Given the description of an element on the screen output the (x, y) to click on. 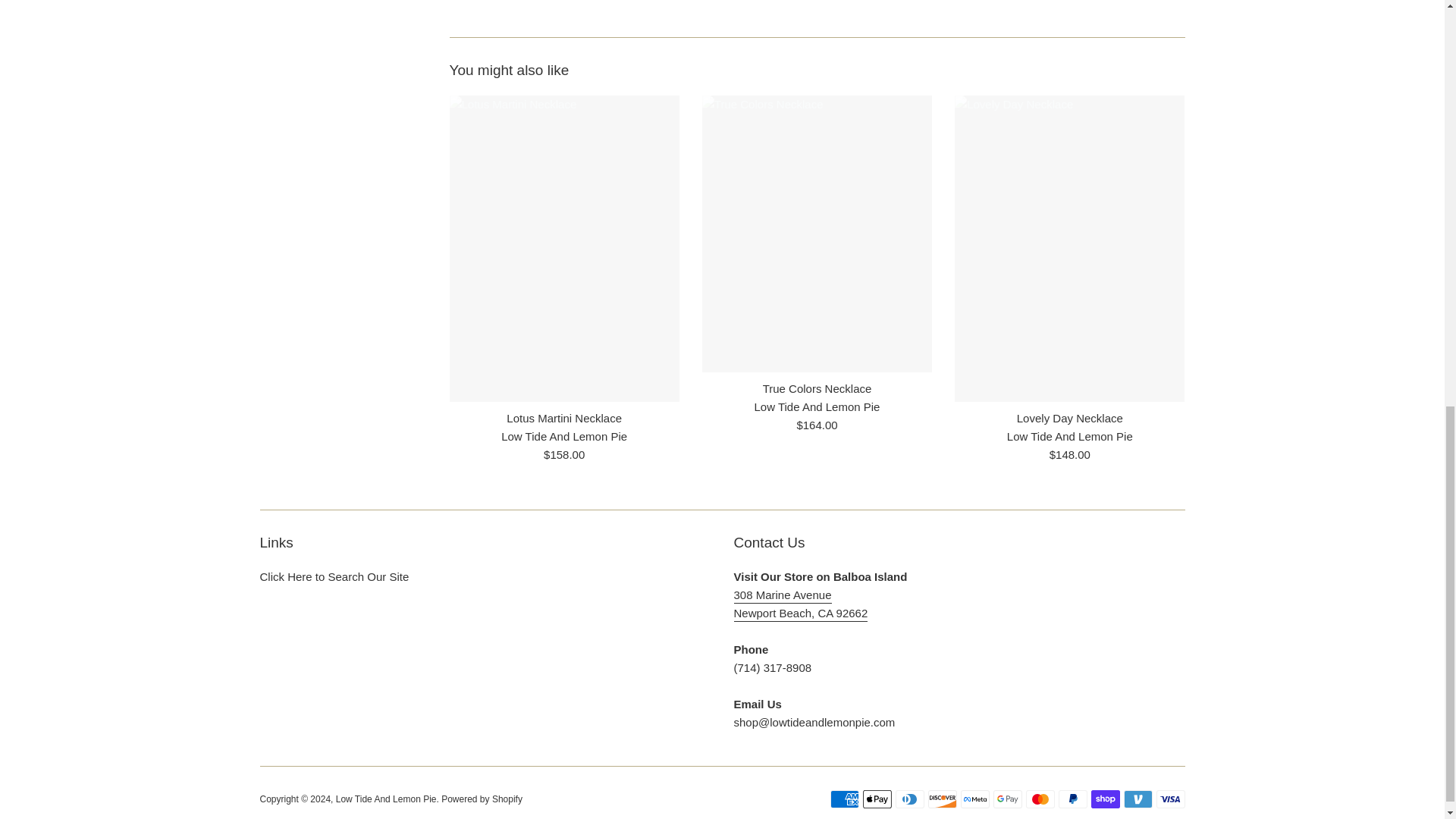
Visa (1170, 799)
Shop Pay (1104, 799)
Apple Pay (877, 799)
Low Tide And Lemon Pie (386, 798)
Powered by Shopify (481, 798)
Mastercard (1039, 799)
Google Pay (1007, 799)
Discover (942, 799)
Lotus Martini Necklace (563, 418)
True Colors Necklace (817, 388)
